Given the description of an element on the screen output the (x, y) to click on. 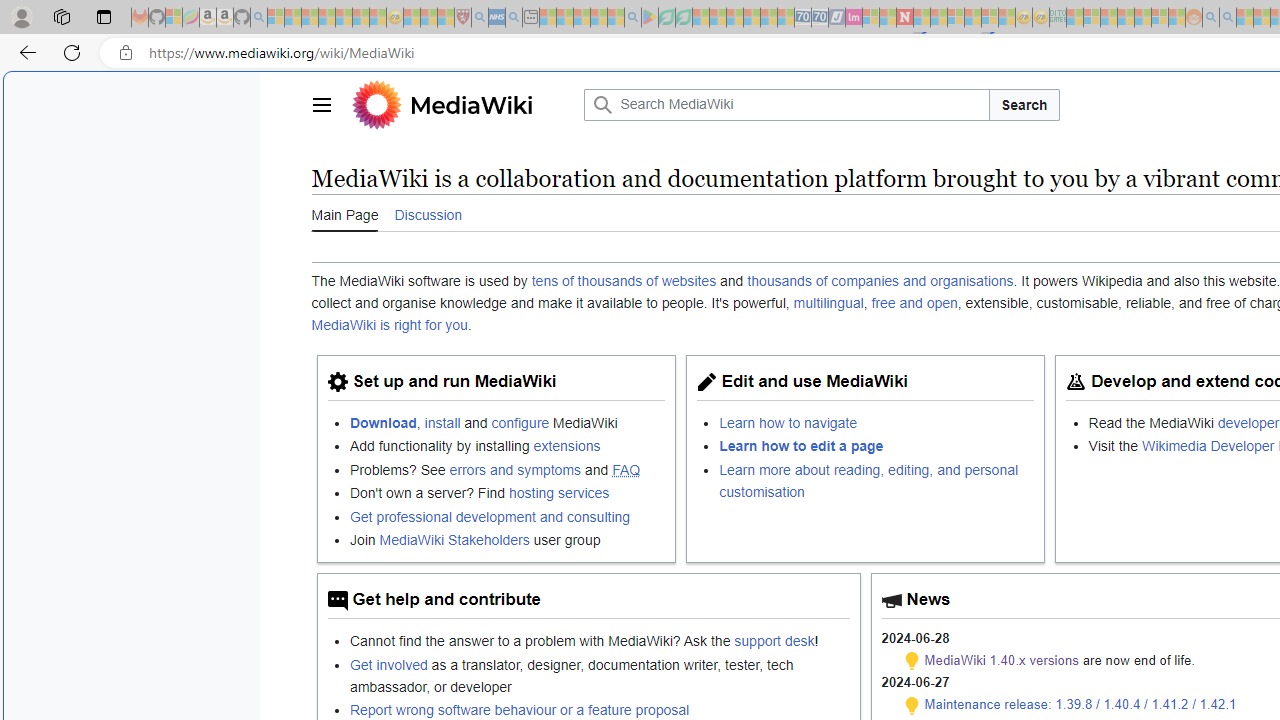
Recipes - MSN - Sleeping (411, 17)
Get professional development and consulting (490, 516)
Learn how to navigate (788, 422)
Discussion (428, 214)
